Given the description of an element on the screen output the (x, y) to click on. 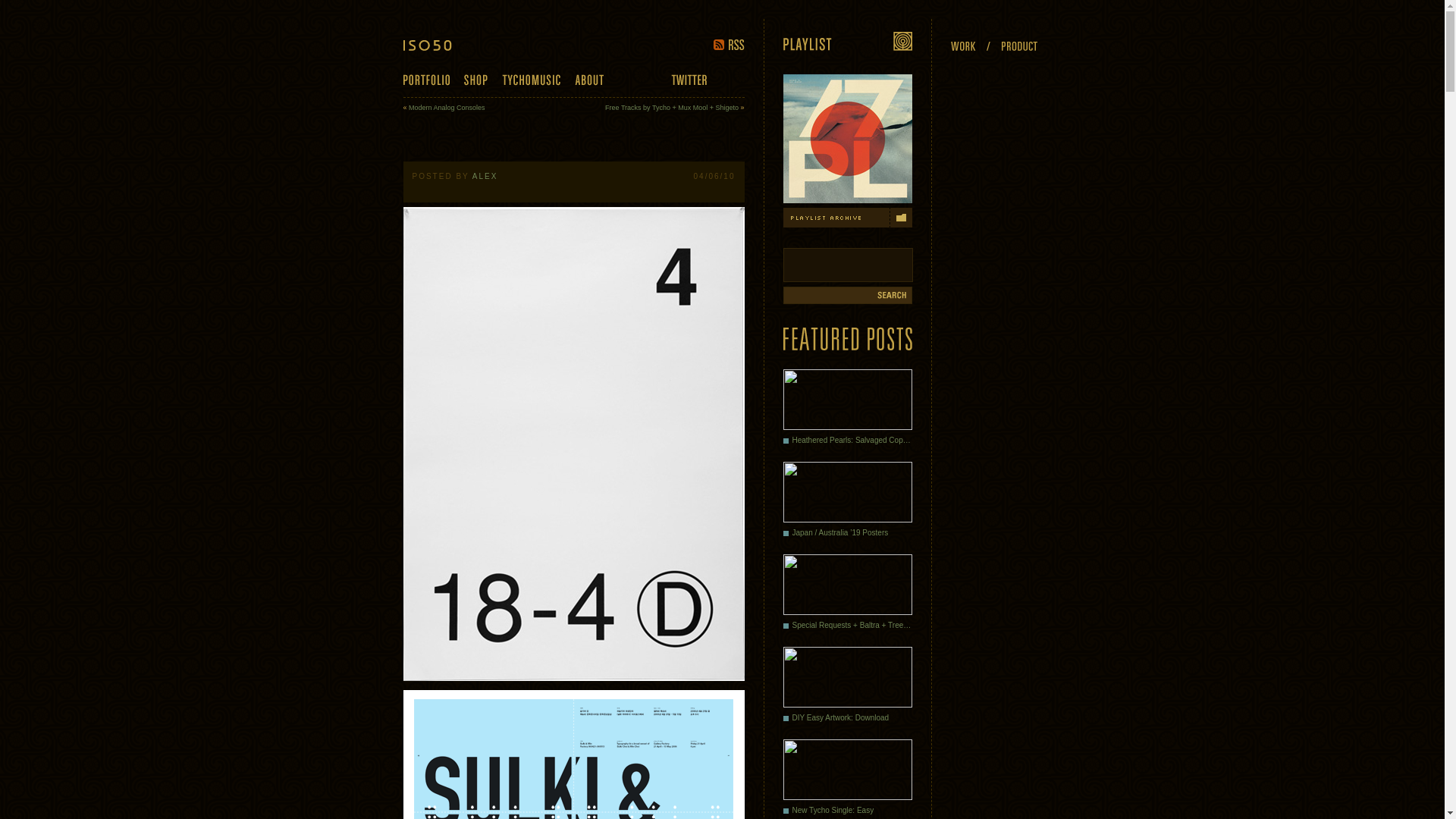
Tycho Music (531, 79)
Contact (636, 79)
View all posts by Alex (484, 175)
Shop (475, 79)
Twitter (687, 79)
ISO50 (438, 44)
RSS (728, 44)
About (589, 79)
Playlist (847, 40)
11:59 pm (714, 175)
